Given the description of an element on the screen output the (x, y) to click on. 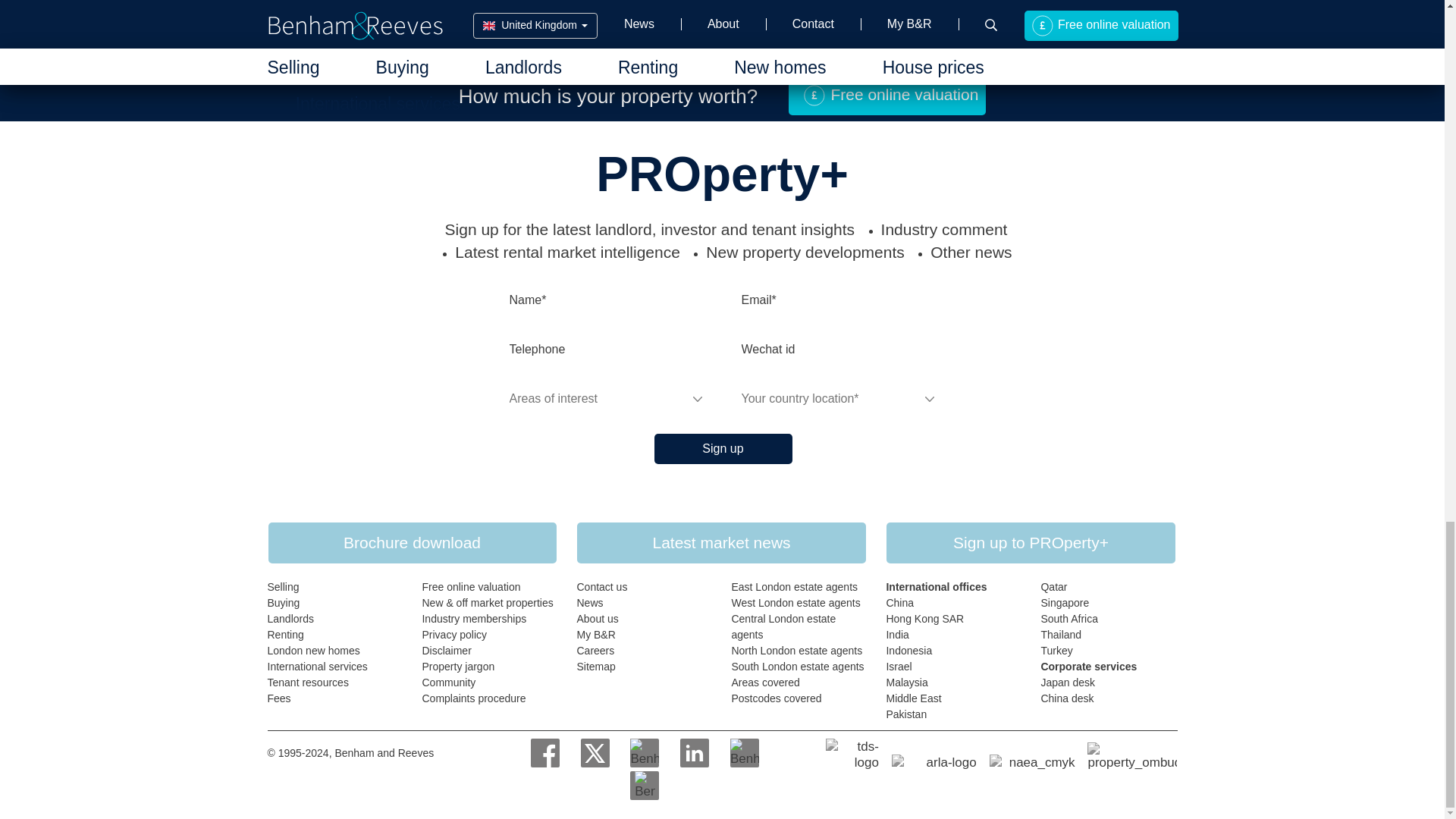
Connect with Benham and Reeves on LinkedIn (694, 752)
Follow Benham and Reeves on Instagram (644, 752)
Follow Benham and Reeves on Twitter (595, 752)
Like Benham and Reeves Page on Facebook (545, 752)
Subscribe to Benham and Reeves YouTube channel (744, 752)
